Given the description of an element on the screen output the (x, y) to click on. 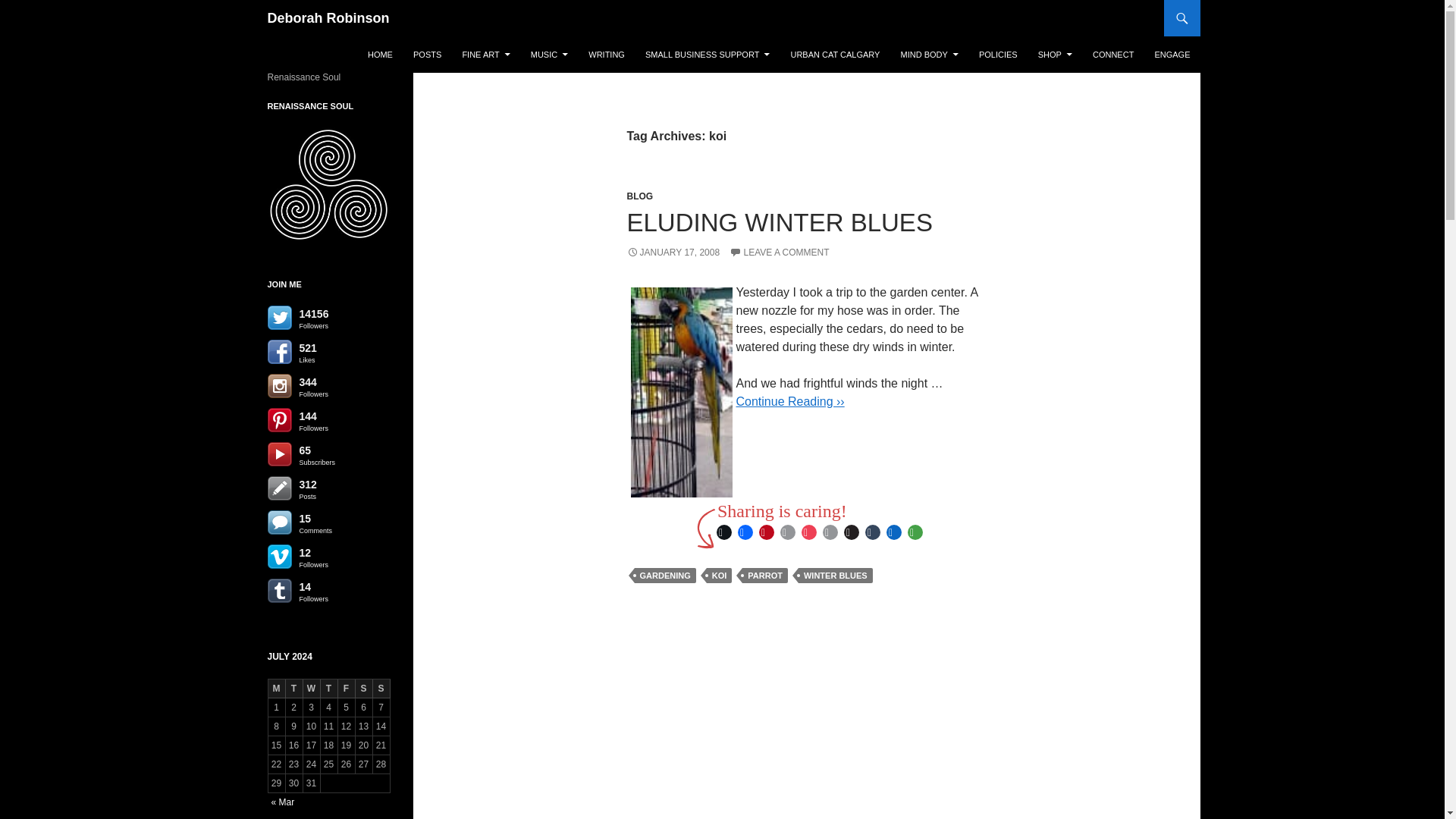
SHOP (1055, 54)
POSTS (426, 54)
CONNECT (1112, 54)
SMALL BUSINESS SUPPORT (707, 54)
Deborah Robinson Renaissance Soul (379, 54)
WRITING (606, 54)
Deborah Robinson (327, 18)
MIND BODY (929, 54)
FINE ART (485, 54)
Deborah Robinson Artist (485, 54)
URBAN CAT CALGARY (834, 54)
Musician Deborah Robinson (548, 54)
MUSIC (548, 54)
POLICIES (997, 54)
